Given the description of an element on the screen output the (x, y) to click on. 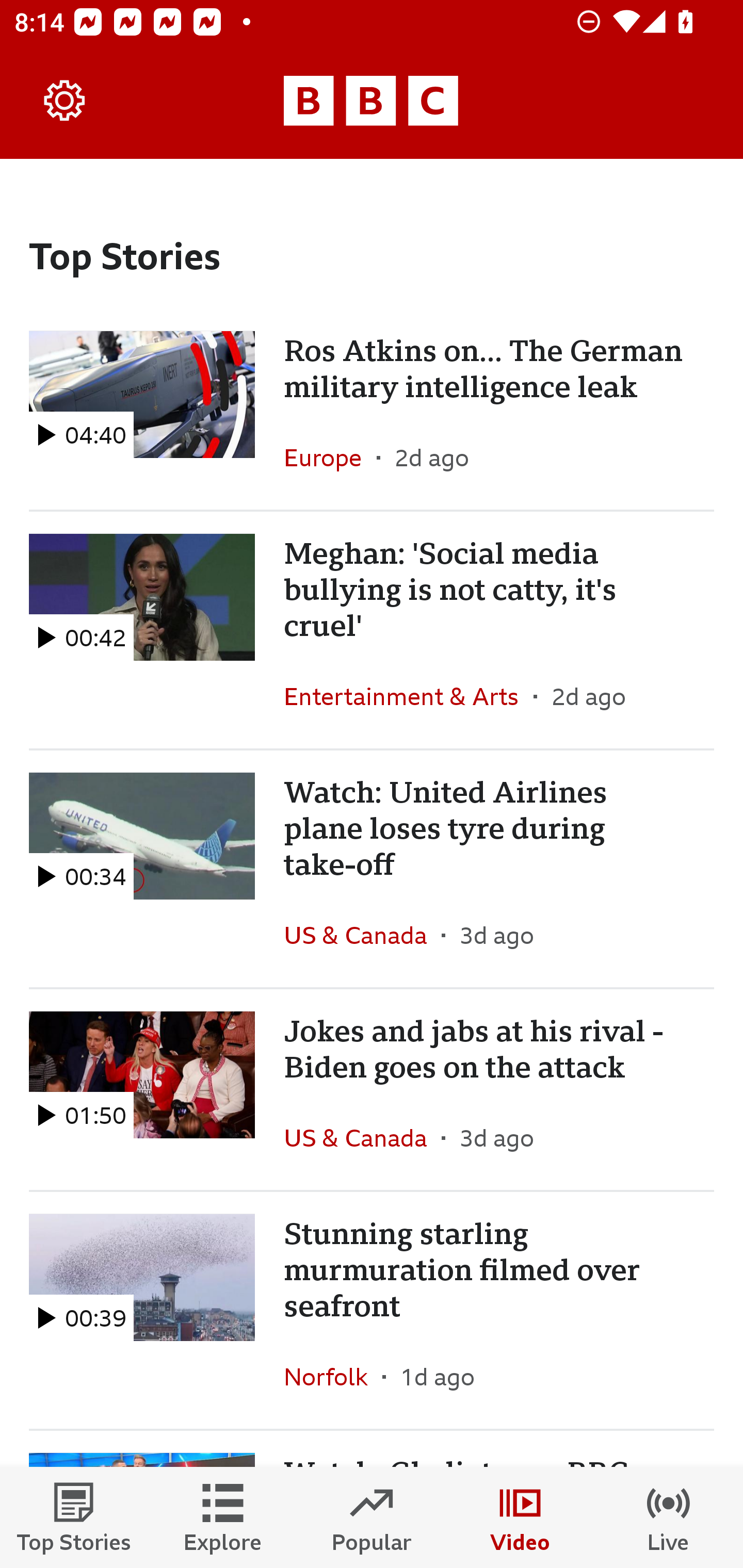
Settings (64, 100)
Europe In the section Europe (329, 457)
US & Canada In the section US & Canada (362, 934)
US & Canada In the section US & Canada (362, 1137)
Norfolk In the section Norfolk (332, 1376)
Top Stories (74, 1517)
Explore (222, 1517)
Popular (371, 1517)
Live (668, 1517)
